Given the description of an element on the screen output the (x, y) to click on. 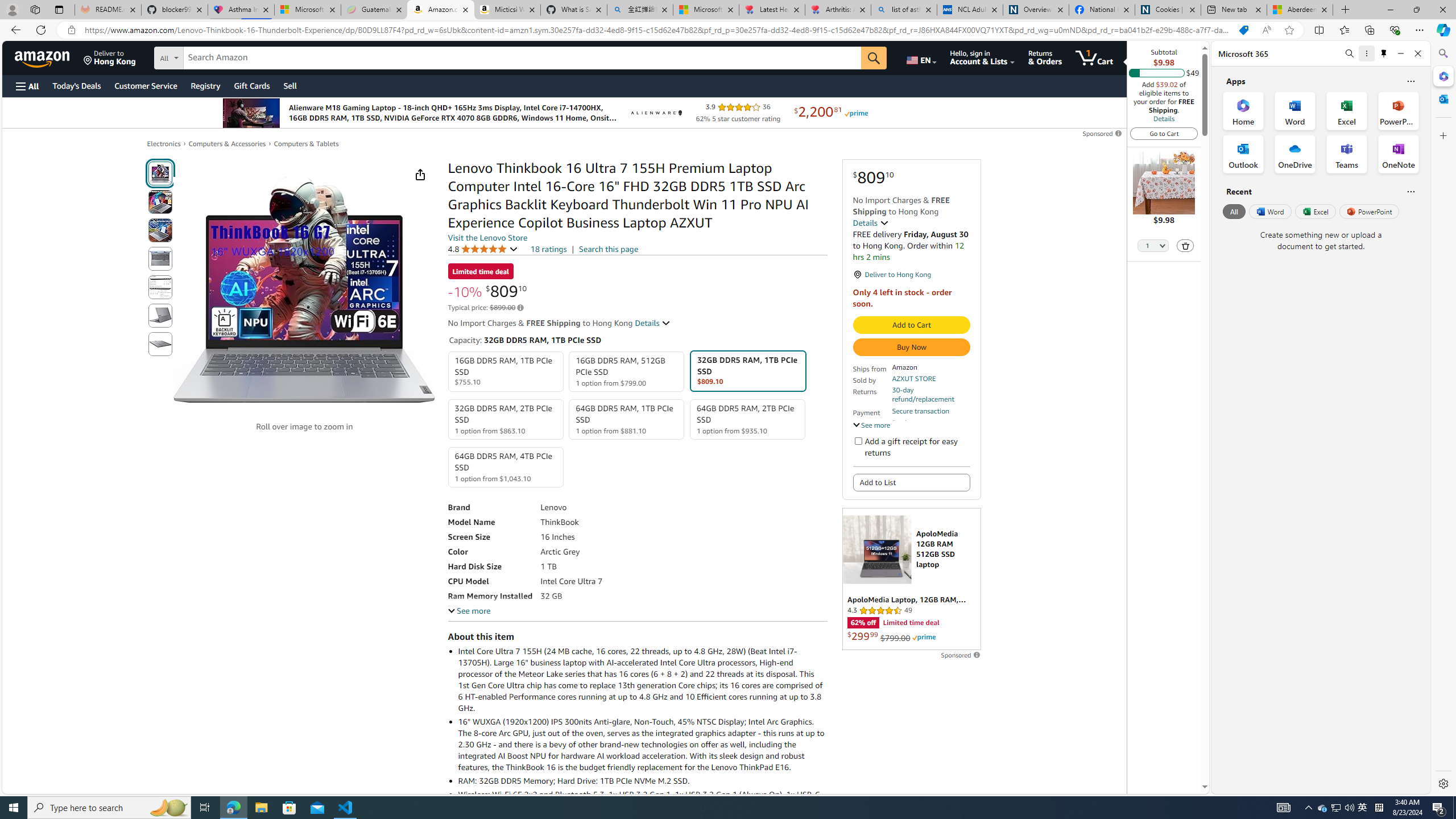
Go (873, 57)
Unpin side pane (1383, 53)
PowerPoint (1369, 210)
18 ratings (547, 248)
Aberdeen, Hong Kong SAR hourly forecast | Microsoft Weather (1300, 9)
Outlook Office App (1243, 154)
Hello, sign in Account & Lists (982, 57)
Returns & Orders (1045, 57)
Arthritis: Ask Health Professionals (838, 9)
